Given the description of an element on the screen output the (x, y) to click on. 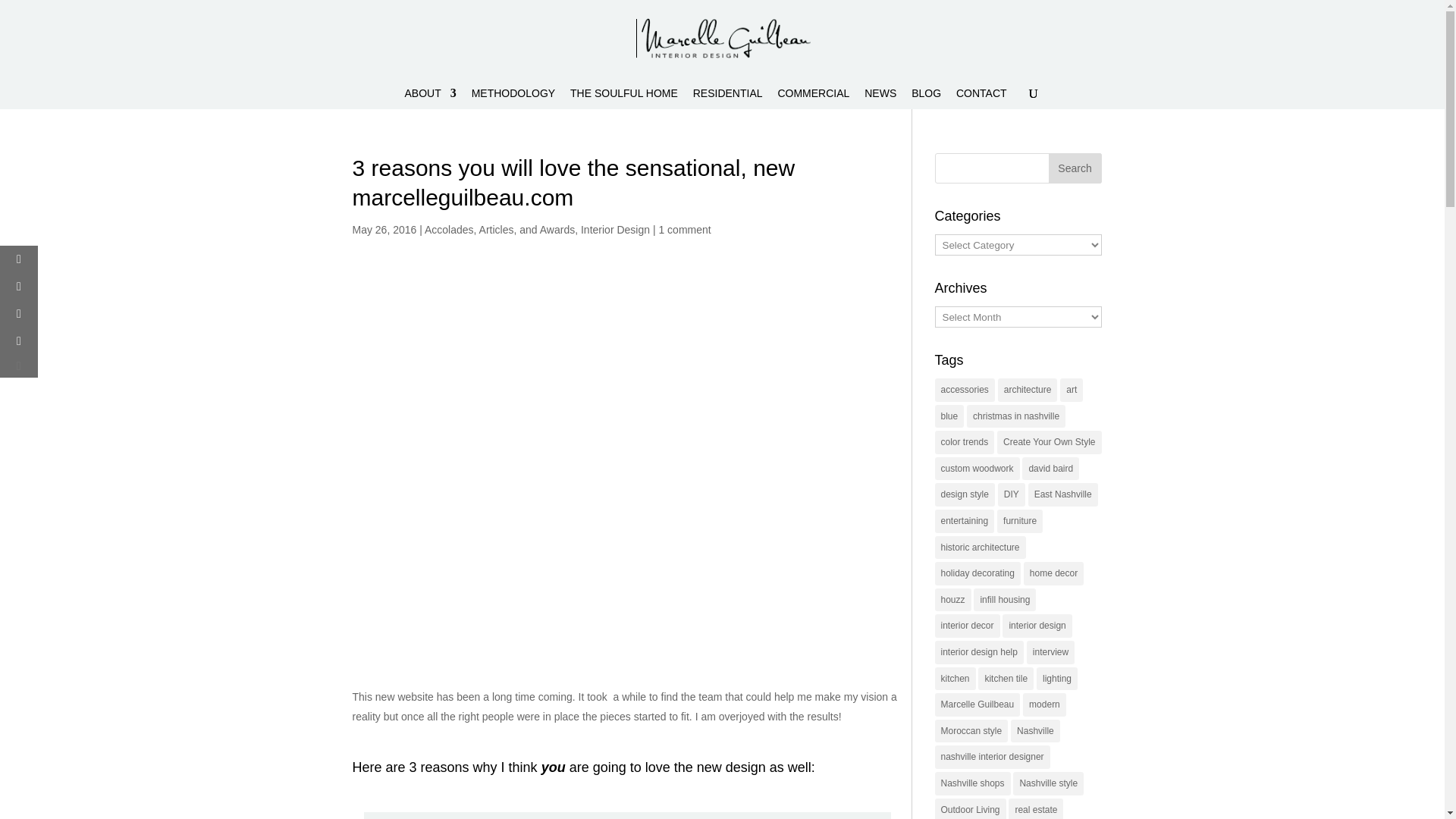
THE SOULFUL HOME (624, 97)
architecture (1027, 390)
CONTACT (981, 97)
METHODOLOGY (512, 97)
BLOG (925, 97)
COMMERCIAL (812, 97)
Interior Design (614, 229)
art (1071, 390)
Search (1074, 168)
accessories (964, 390)
